Given the description of an element on the screen output the (x, y) to click on. 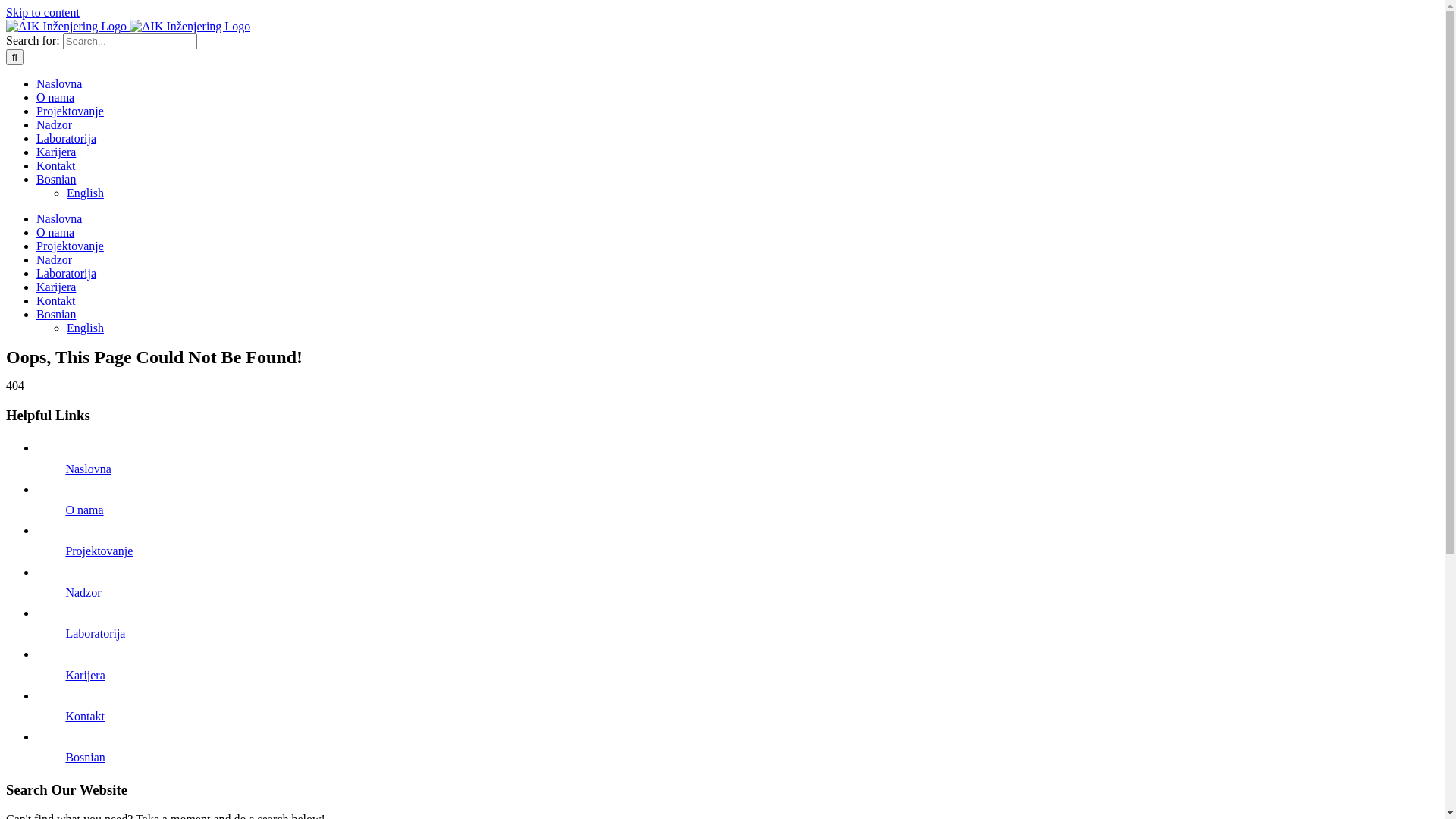
Laboratorija Element type: text (95, 633)
O nama Element type: text (55, 97)
Karijera Element type: text (55, 151)
English Element type: text (84, 327)
Laboratorija Element type: text (66, 272)
O nama Element type: text (84, 509)
Bosnian Element type: text (55, 178)
Skip to content Element type: text (42, 12)
Projektovanje Element type: text (69, 110)
O nama Element type: text (55, 231)
Nadzor Element type: text (54, 259)
Bosnian Element type: text (84, 756)
English Element type: text (84, 192)
Karijera Element type: text (55, 286)
Naslovna Element type: text (58, 218)
Naslovna Element type: text (58, 83)
Kontakt Element type: text (55, 165)
Bosnian Element type: text (55, 313)
Kontakt Element type: text (55, 300)
Nadzor Element type: text (82, 592)
Karijera Element type: text (84, 674)
Nadzor Element type: text (54, 124)
Laboratorija Element type: text (66, 137)
Naslovna Element type: text (87, 468)
Projektovanje Element type: text (69, 245)
Projektovanje Element type: text (98, 550)
Kontakt Element type: text (84, 715)
